Given the description of an element on the screen output the (x, y) to click on. 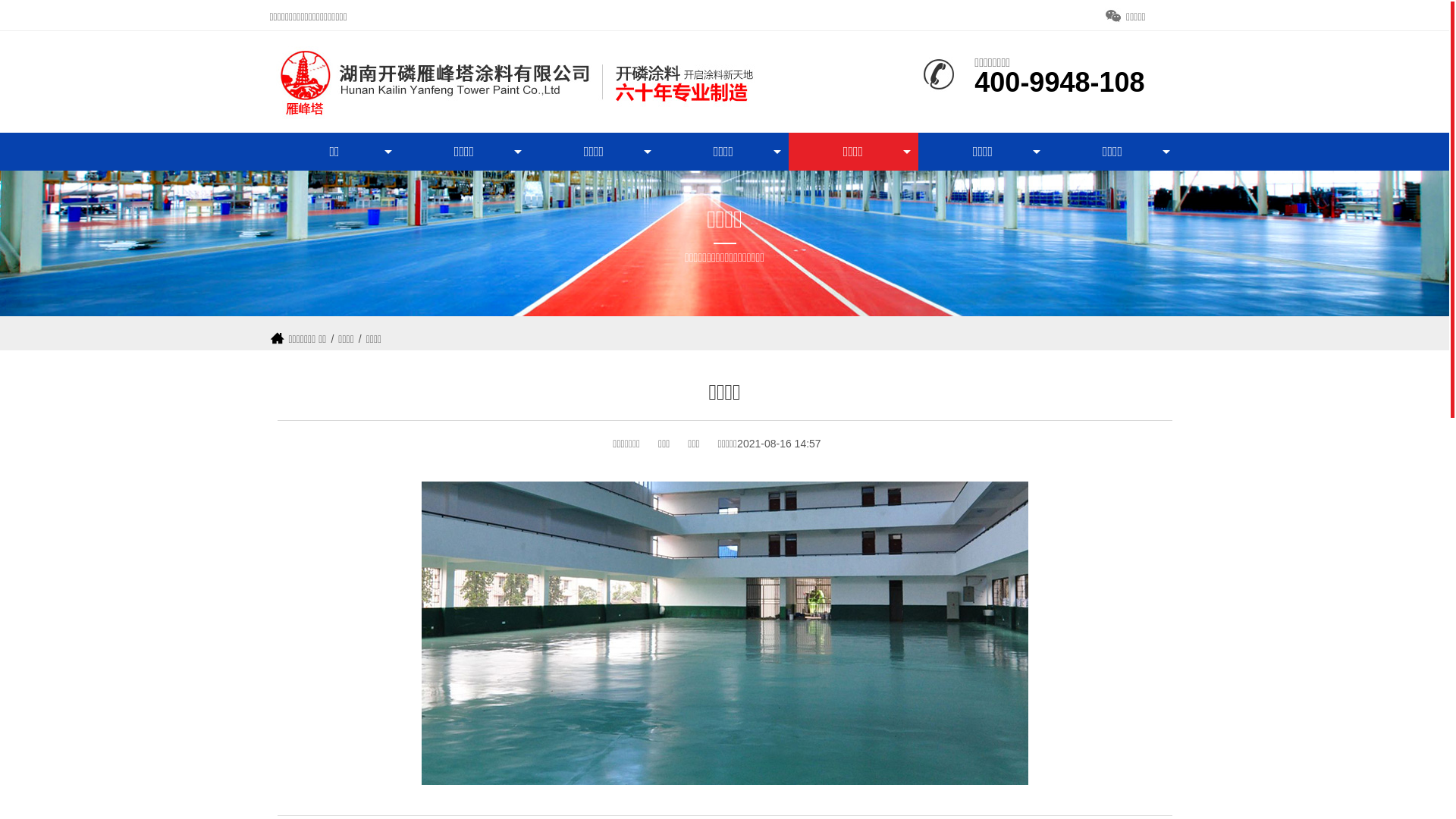
400-9948-108 Element type: text (1059, 85)
